Given the description of an element on the screen output the (x, y) to click on. 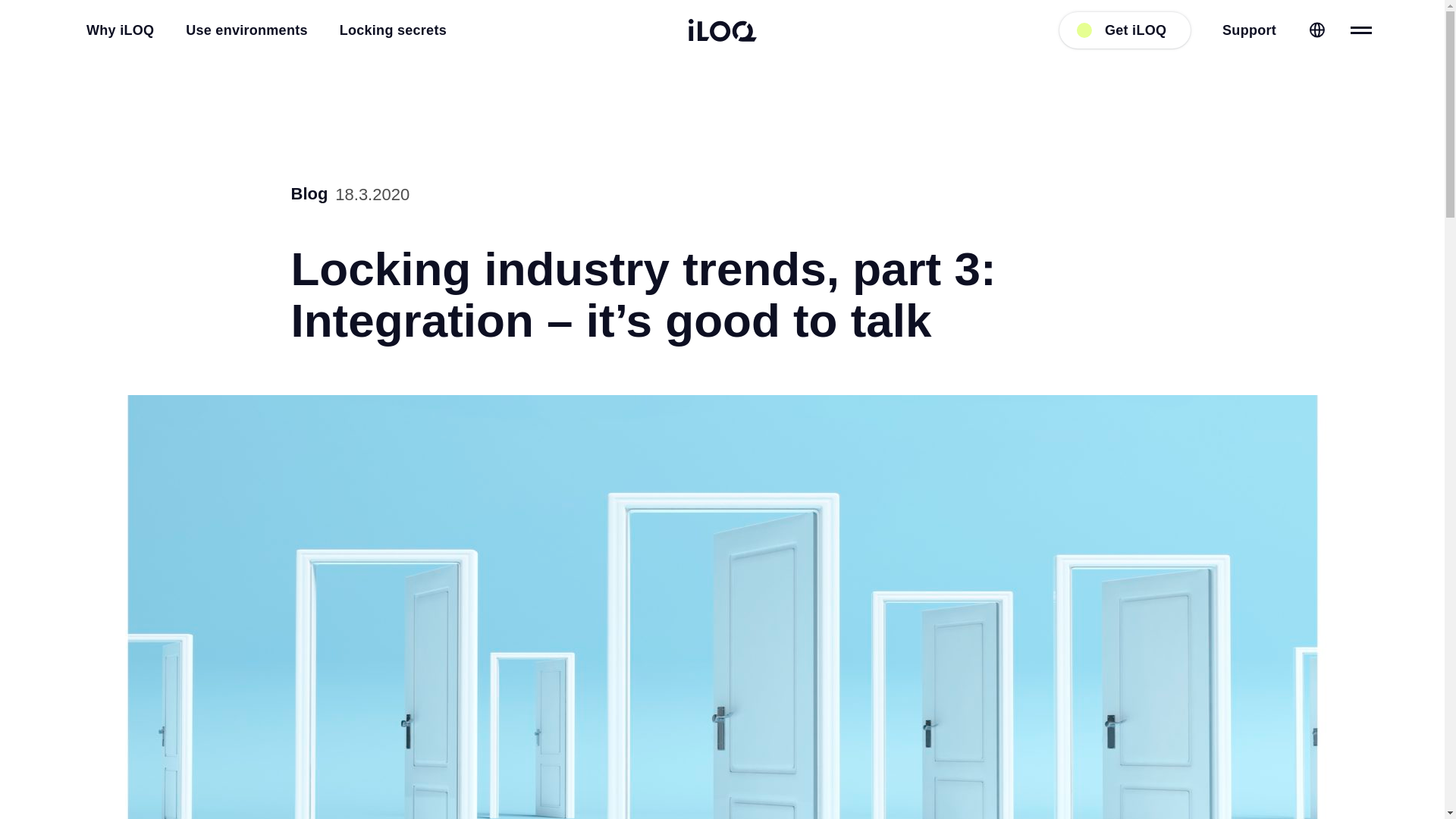
Site menu (1361, 29)
Locking secrets (386, 29)
iLOQ (722, 29)
Open the language menu (1310, 30)
Support (1242, 29)
Why iLOQ (113, 29)
Use environments (239, 30)
Get iLOQ (1125, 30)
